Given the description of an element on the screen output the (x, y) to click on. 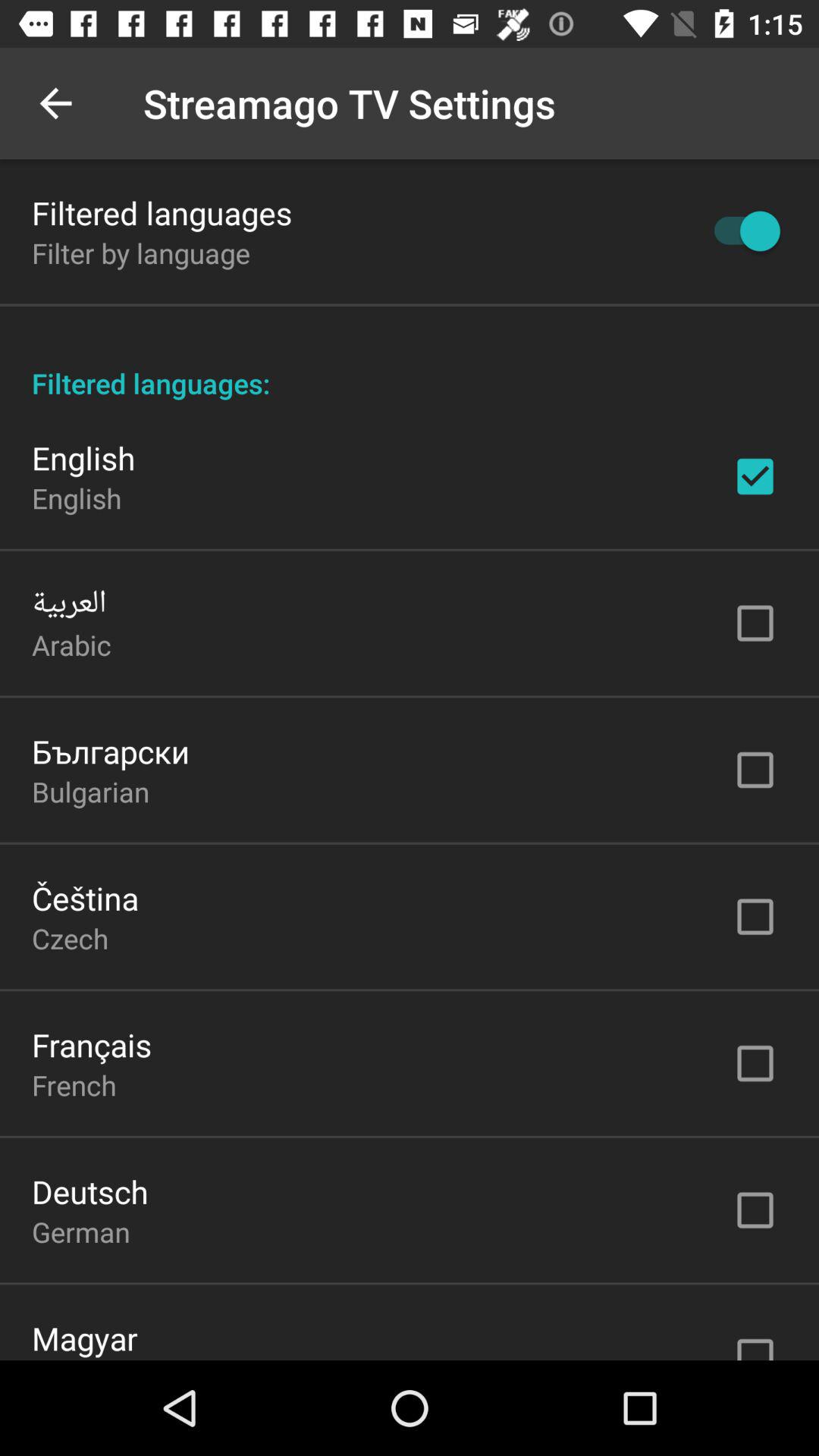
click on the checkbox just right to english (755, 476)
